Given the description of an element on the screen output the (x, y) to click on. 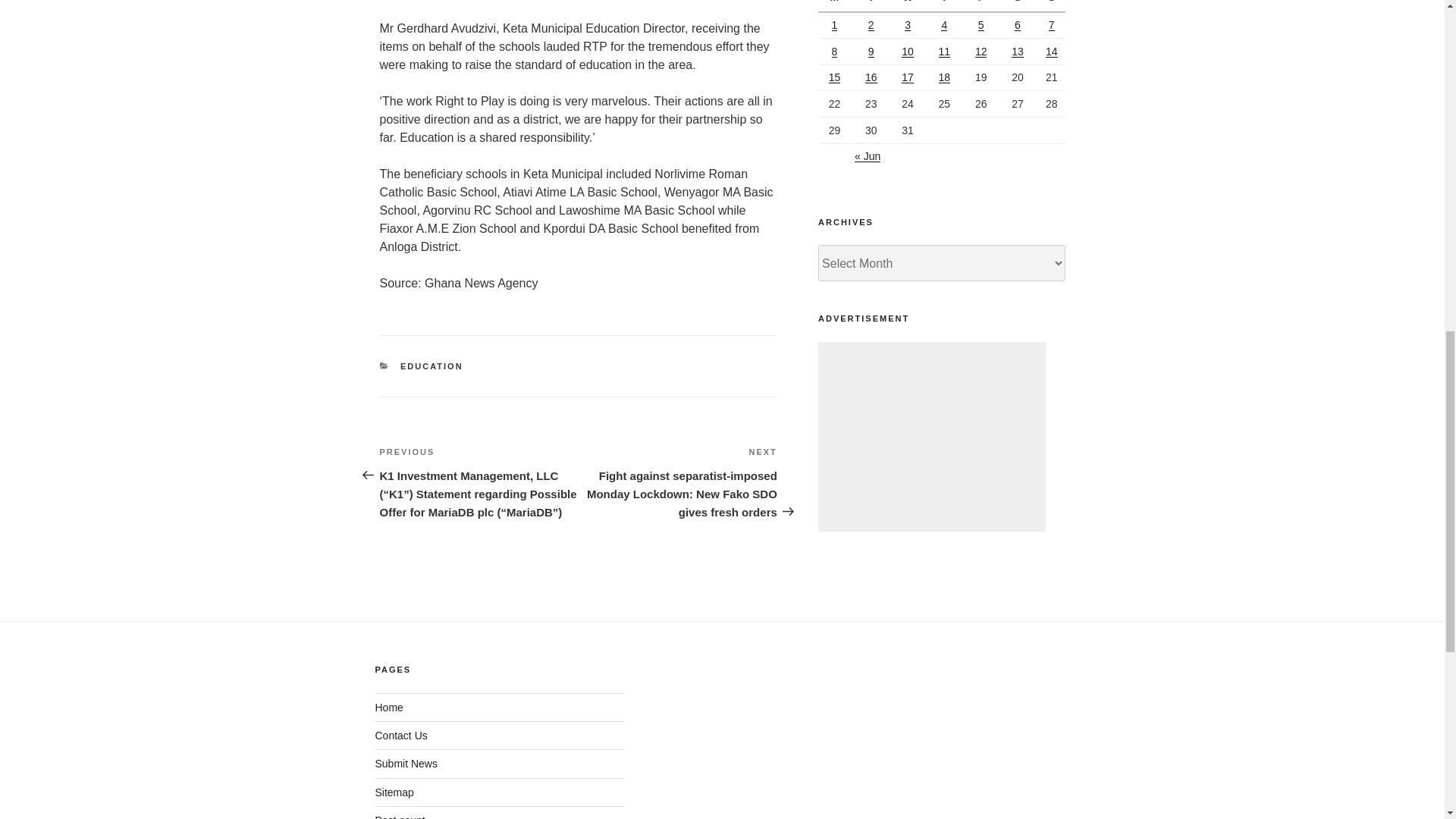
Wednesday (909, 6)
14 (1051, 51)
Thursday (945, 6)
16 (870, 77)
Sunday (1051, 6)
13 (1017, 51)
Tuesday (872, 6)
Saturday (1019, 6)
17 (907, 77)
15 (834, 77)
EDUCATION (431, 366)
Monday (836, 6)
11 (944, 51)
10 (907, 51)
